Given the description of an element on the screen output the (x, y) to click on. 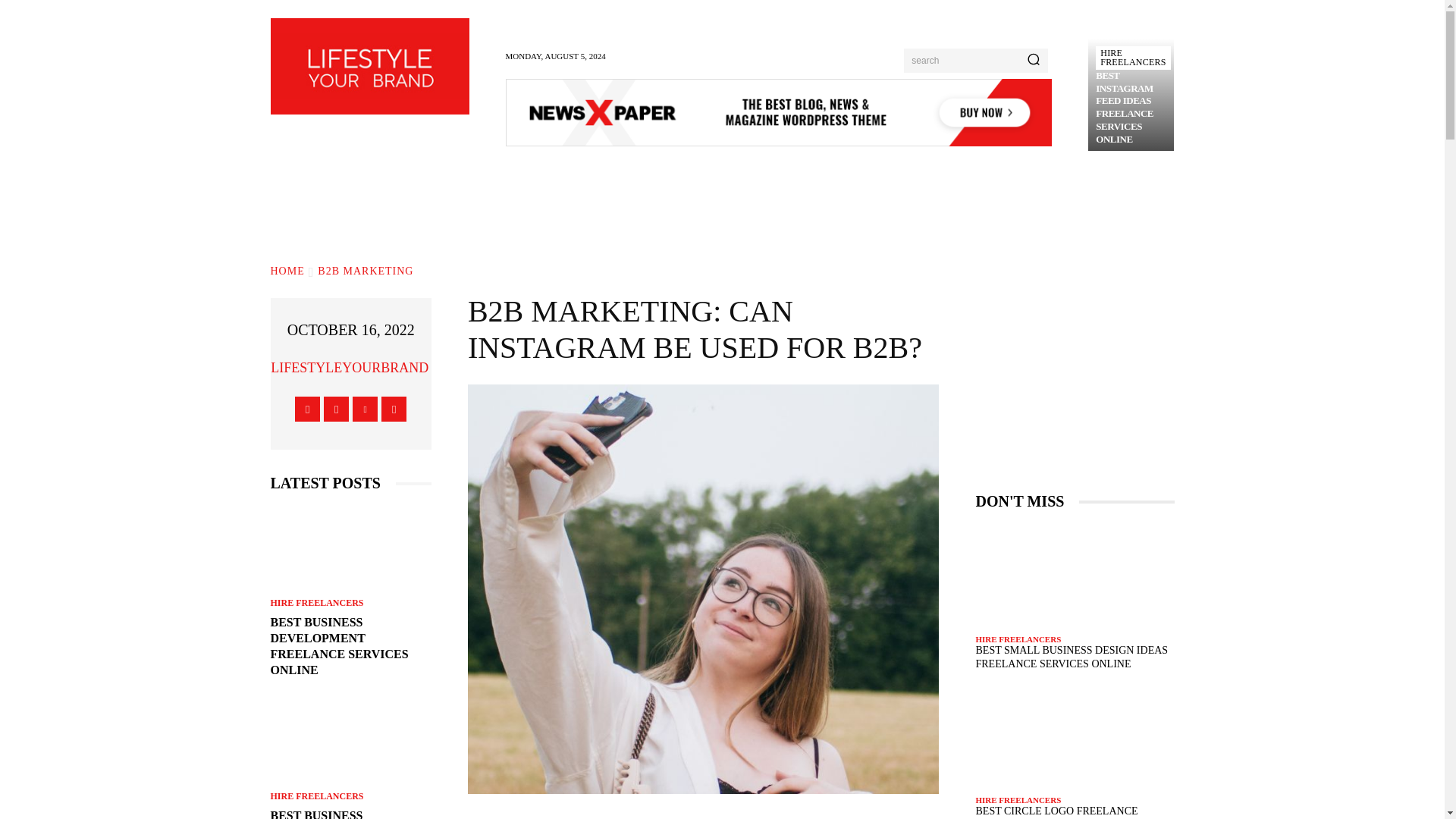
Lifestyle Your Brand (368, 66)
View all posts in B2B Marketing (365, 270)
Best Business Development Freelance Services Online (349, 547)
Youtube (393, 408)
LIFESTYLEYOURBRAND (349, 367)
HOME (286, 270)
Instagram (336, 408)
Twitter (364, 408)
B2B MARKETING (365, 270)
Facebook (307, 408)
HIRE FREELANCERS (1133, 57)
